Given the description of an element on the screen output the (x, y) to click on. 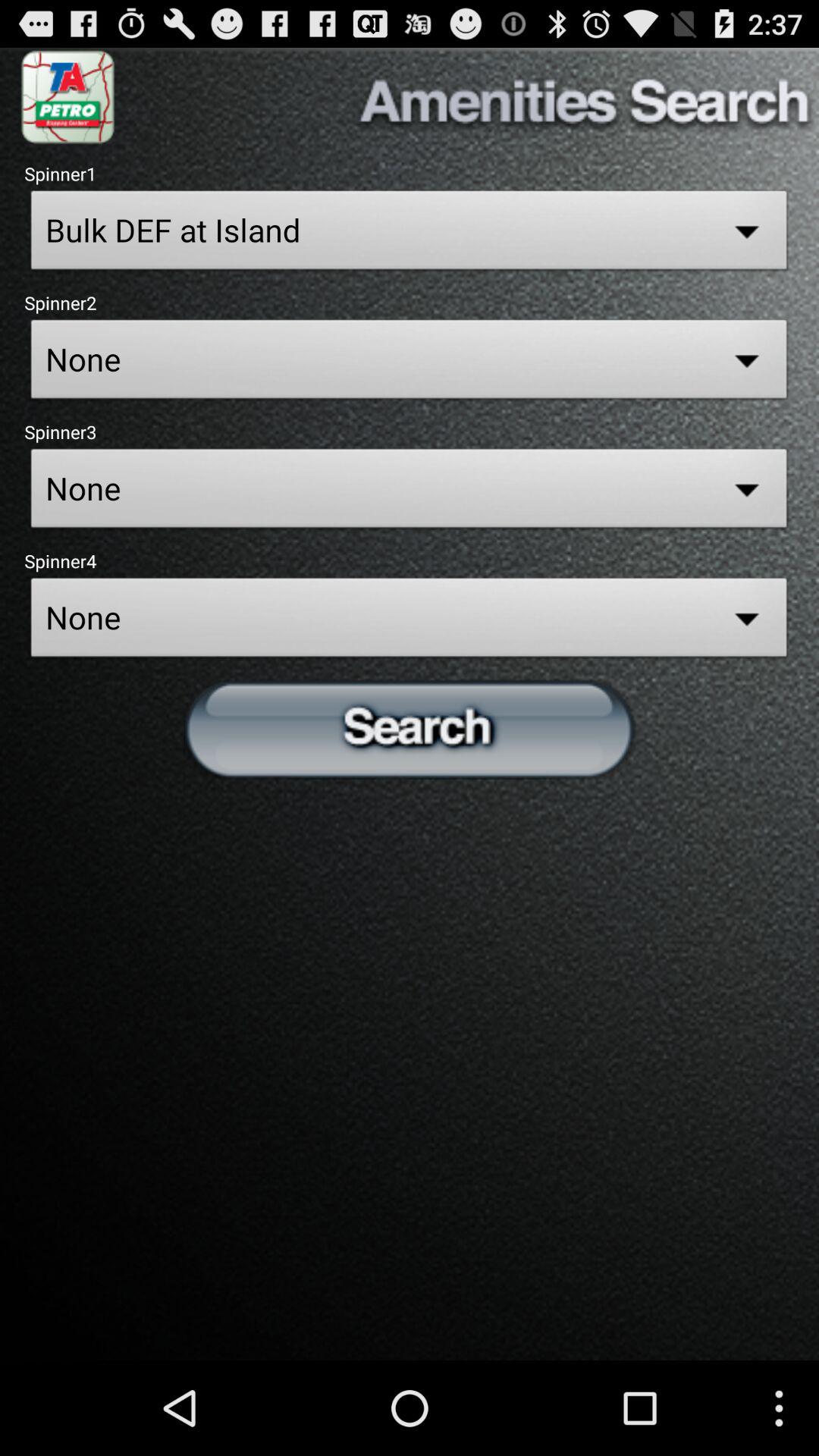
click on the box none (409, 363)
select the amenities search button (467, 97)
select the none field in spinner 4 (409, 621)
click on the search option which is bottom of the page (409, 728)
